Given the description of an element on the screen output the (x, y) to click on. 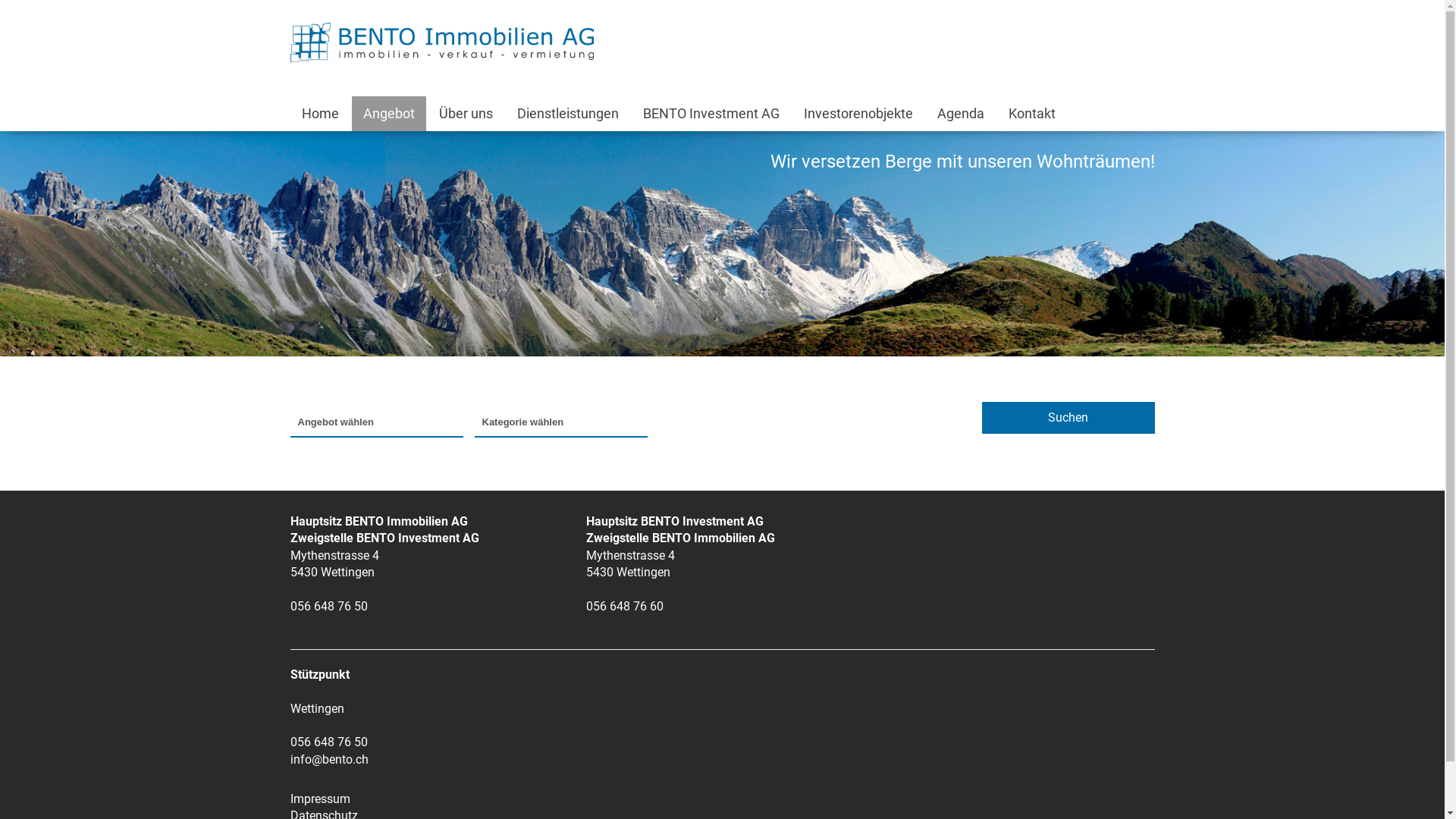
Kontakt Element type: text (1031, 113)
Dienstleistungen Element type: text (567, 113)
BENTO Investment AG Element type: text (710, 113)
Angebot Element type: text (388, 113)
info@bento.ch Element type: text (328, 759)
Investorenobjekte Element type: text (857, 113)
Agenda Element type: text (959, 113)
Impressum Element type: text (319, 798)
Suchen Element type: text (1067, 417)
Home Element type: text (319, 113)
